Given the description of an element on the screen output the (x, y) to click on. 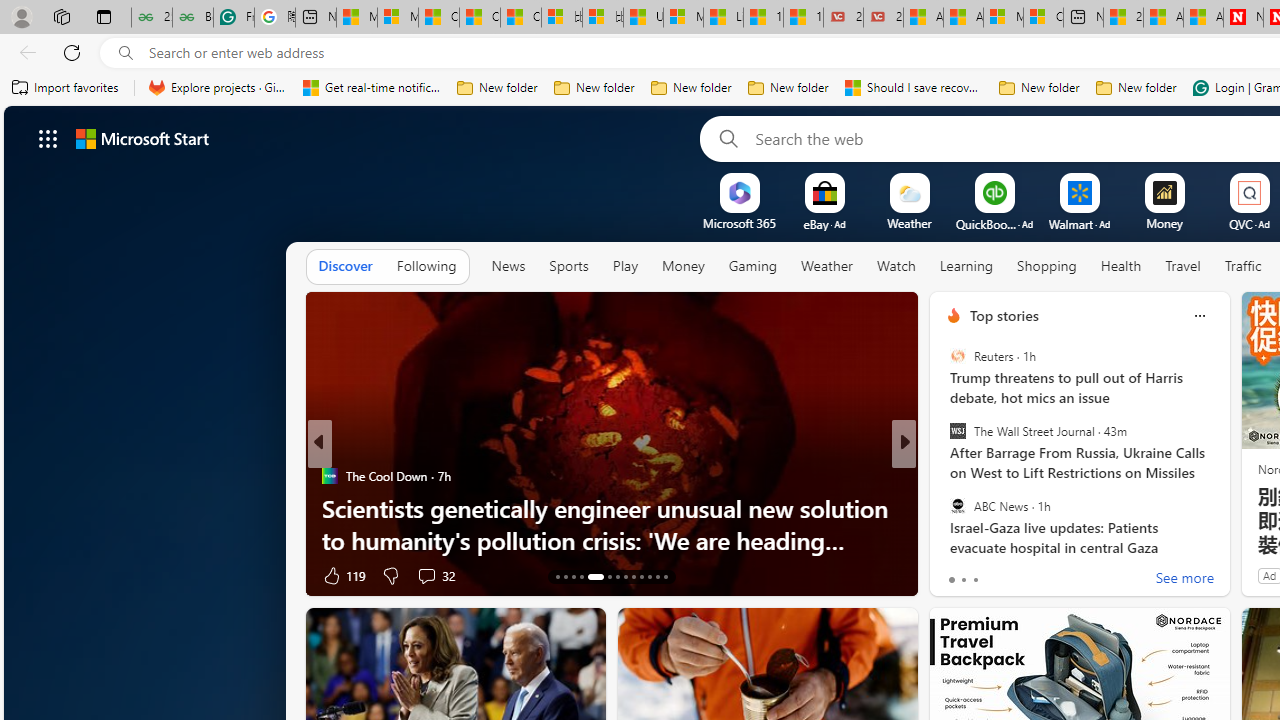
59 Like (956, 574)
119 Like (342, 574)
49 Like (956, 574)
Newsweek (944, 507)
View comments 413 Comment (1054, 574)
Should I save recovered Word documents? - Microsoft Support (913, 88)
TechRadar (944, 475)
Microsoft start (142, 138)
Lifehacker (944, 475)
Housely (944, 507)
